Given the description of an element on the screen output the (x, y) to click on. 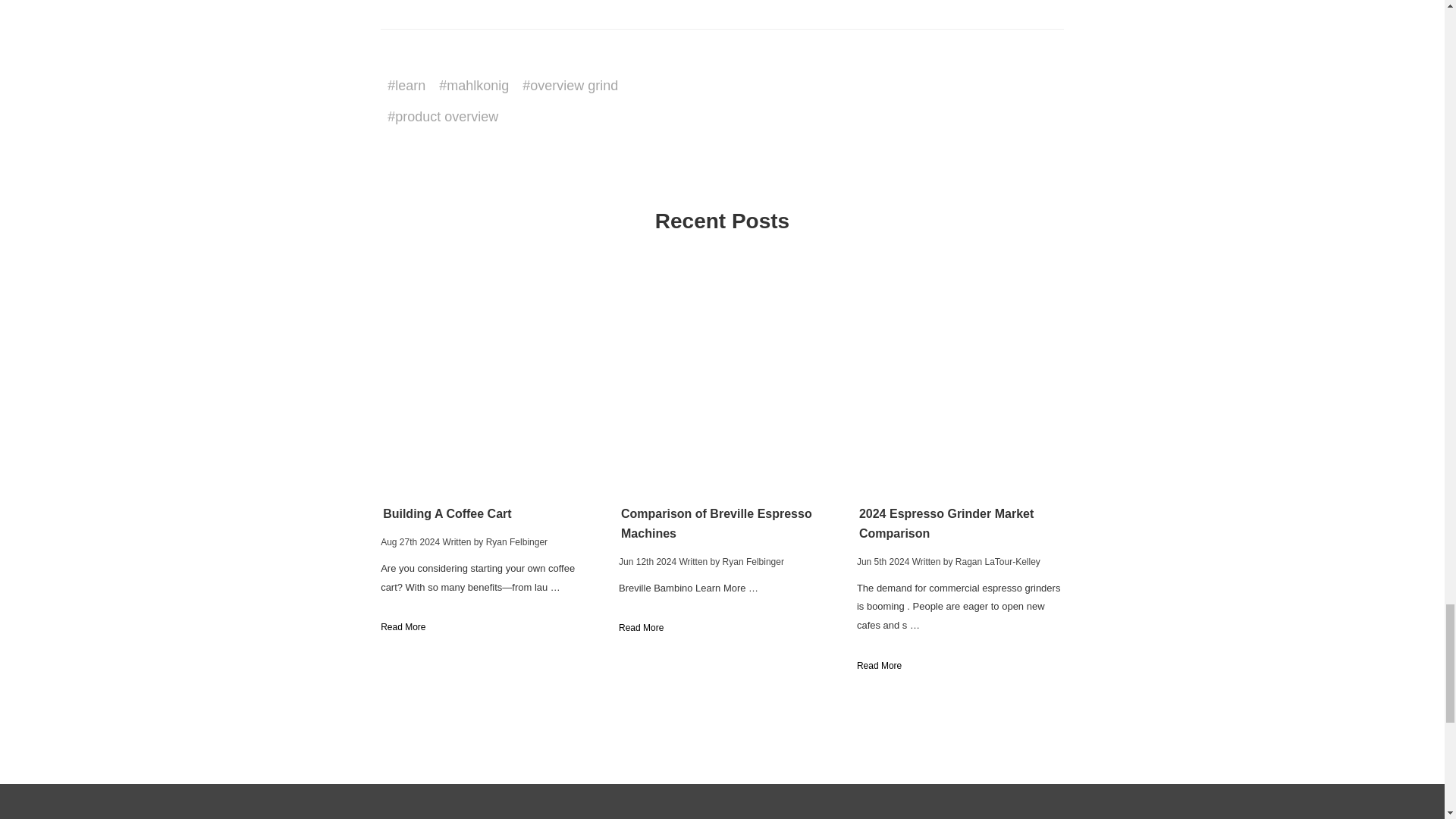
Comparison of Breville Espresso Machines (721, 378)
Building A Coffee Cart (484, 378)
2024 Espresso Grinder Market Comparison (960, 378)
